Given the description of an element on the screen output the (x, y) to click on. 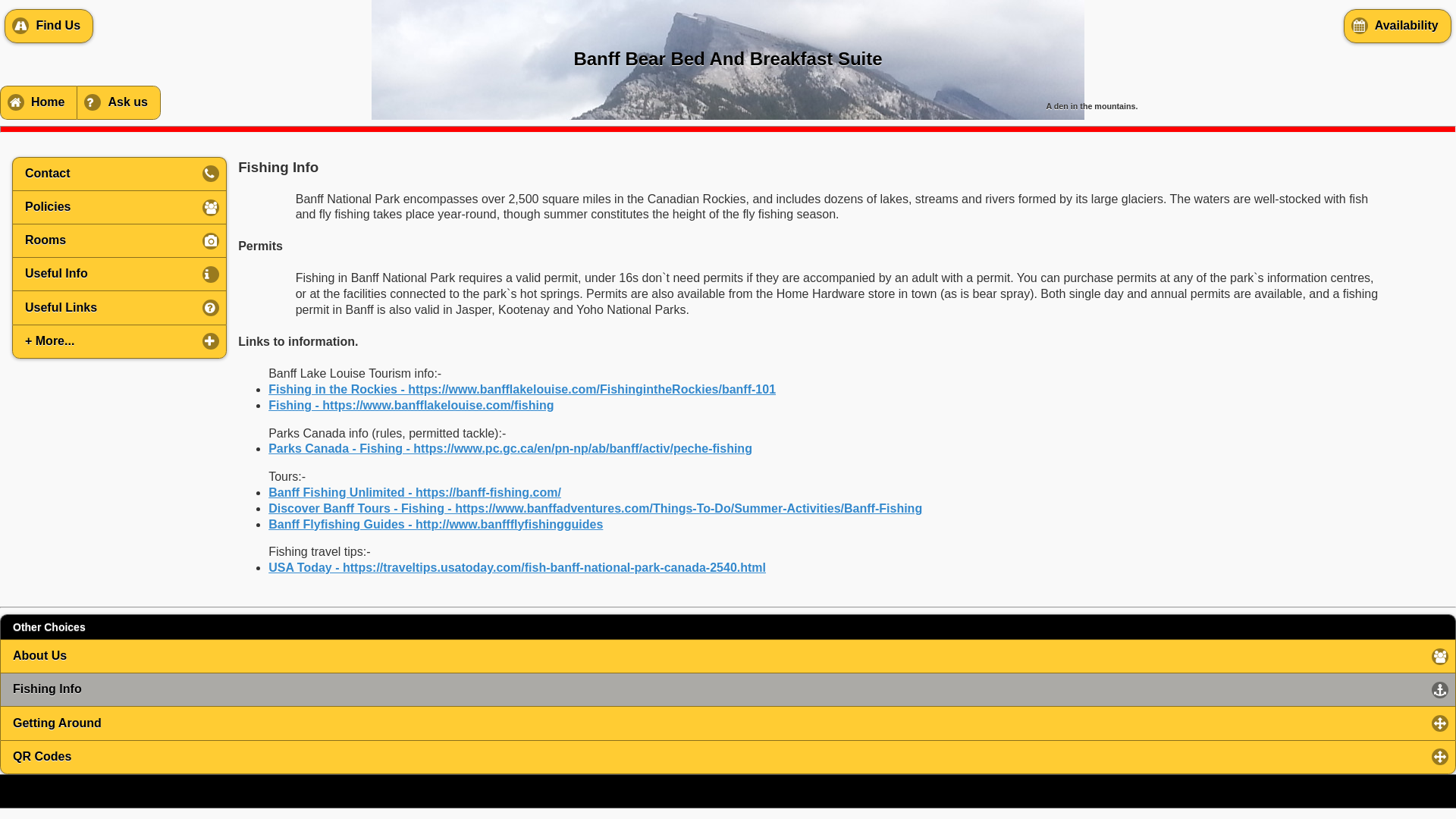
Rooms Element type: text (119, 240)
Banff Flyfishing Guides - http://www.banffflyfishingguides Element type: text (435, 523)
+ More... Element type: text (119, 341)
Fishing - https://www.banfflakelouise.com/fishing Element type: text (410, 404)
Useful Info Element type: text (119, 273)
Contact Element type: text (119, 173)
Ask us Element type: text (118, 102)
Home Element type: text (38, 102)
Banff Fishing Unlimited - https://banff-fishing.com/ Element type: text (414, 492)
Policies Element type: text (119, 206)
Availability Element type: text (1397, 26)
Find Us Element type: text (48, 26)
Useful Links Element type: text (119, 306)
